Given the description of an element on the screen output the (x, y) to click on. 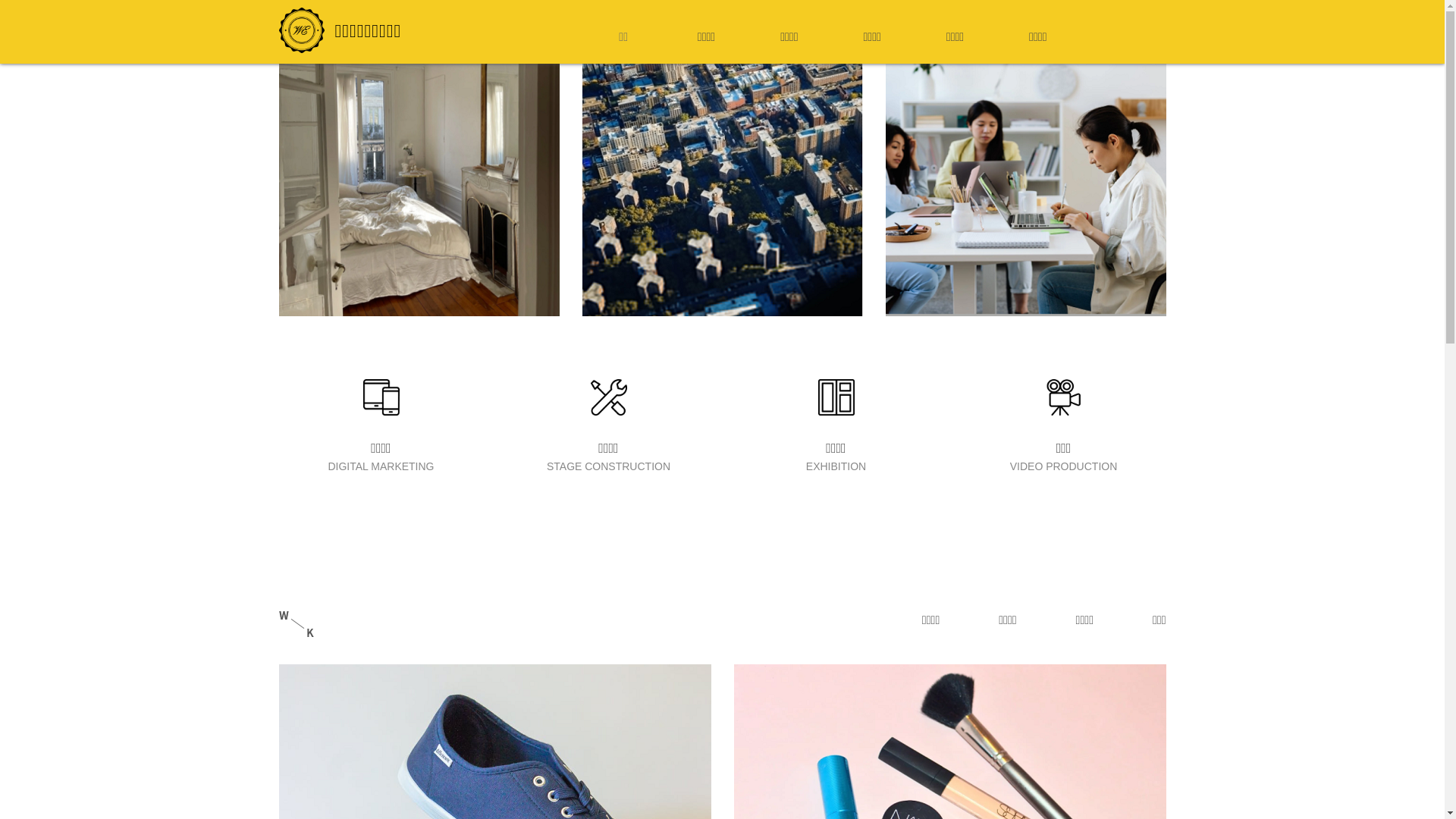
To Top Element type: text (1420, 794)
